Given the description of an element on the screen output the (x, y) to click on. 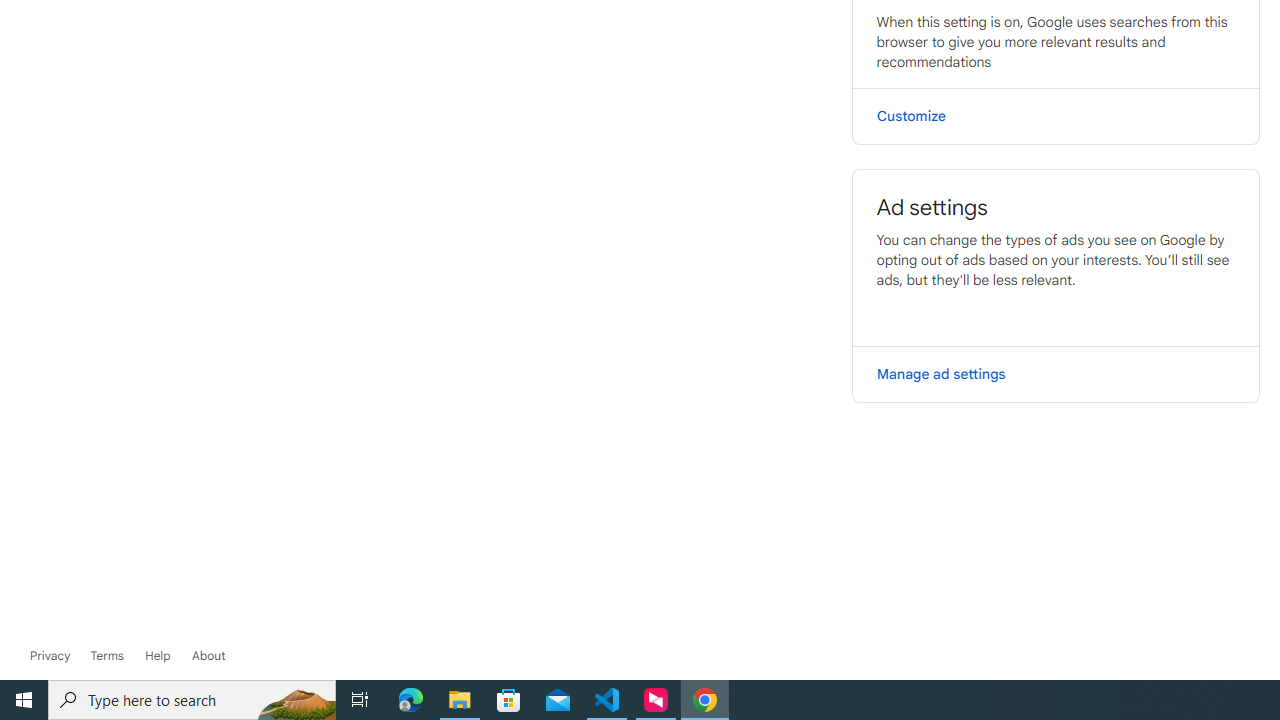
Learn more about Google Account (208, 655)
Manage ad settings (1055, 374)
Customize (1055, 116)
